Given the description of an element on the screen output the (x, y) to click on. 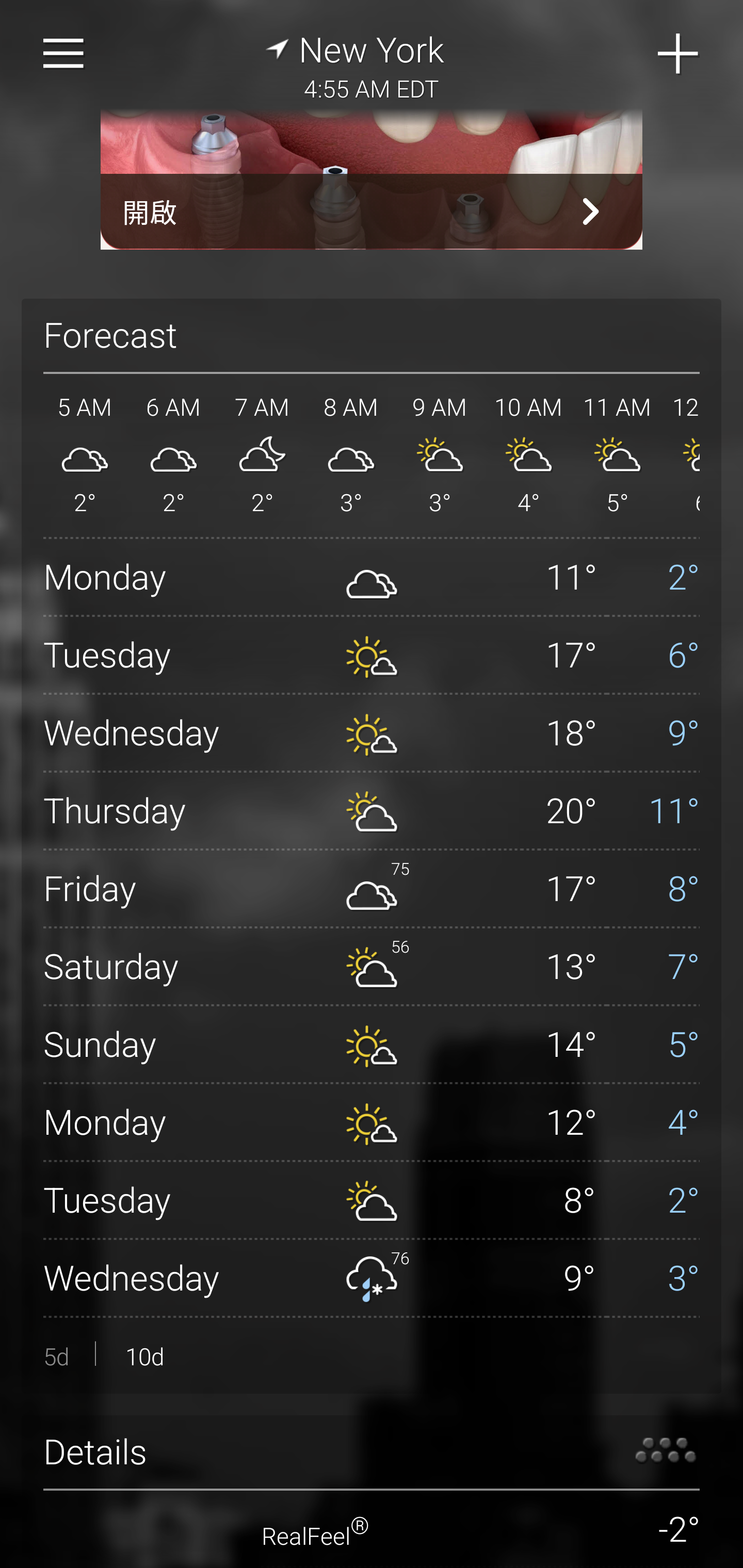
Sidebar (64, 54)
Add City (678, 53)
GSUeodFNZ (371, 179)
開啟 (371, 211)
Forecast Toggle. 10 days (371, 1355)
